Given the description of an element on the screen output the (x, y) to click on. 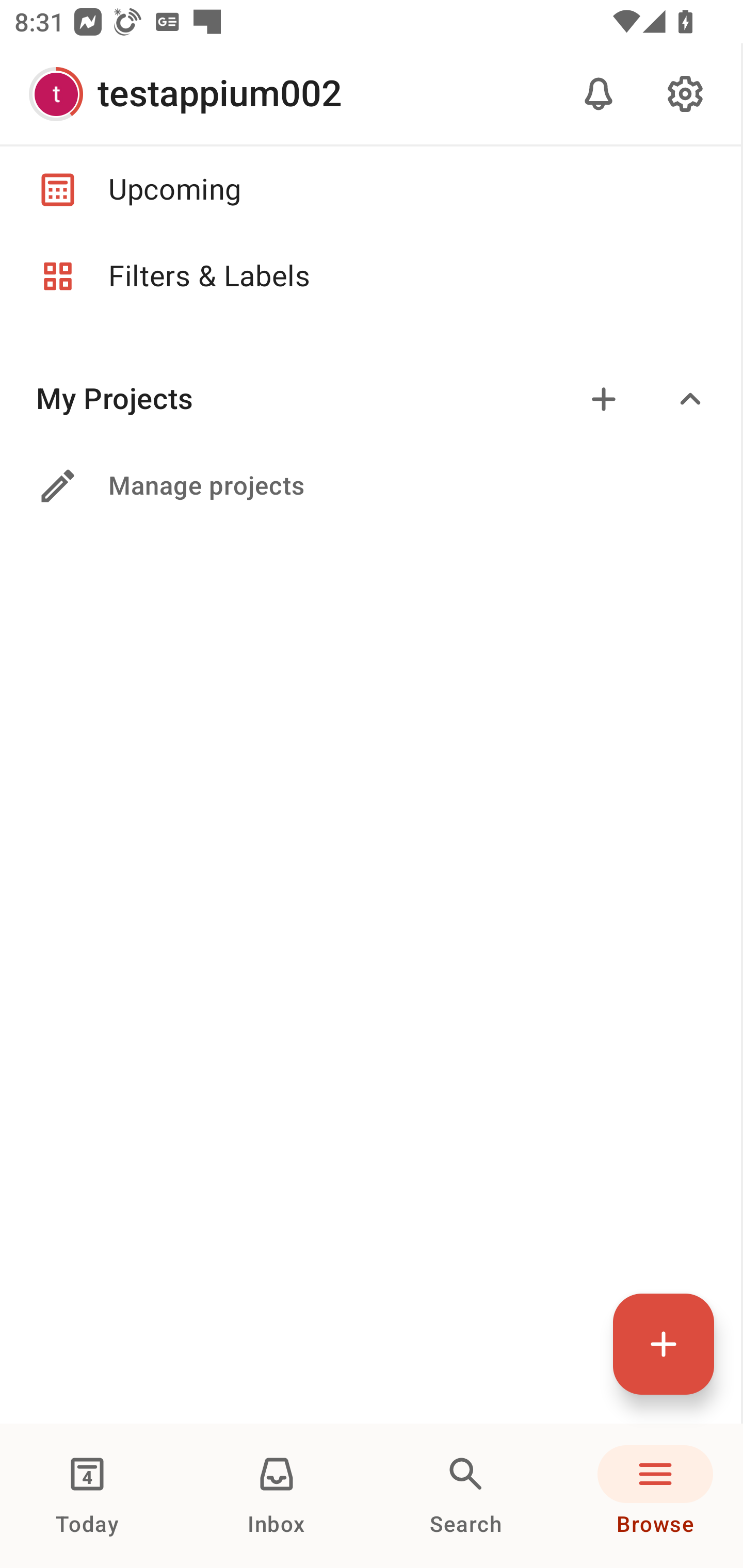
Notifications (598, 93)
Settings (684, 93)
Upcoming (370, 189)
Filters & Labels (370, 276)
My Projects Add Expand/collapse (370, 398)
Add (603, 398)
Expand/collapse (690, 398)
Manage projects (370, 485)
Quick add (663, 1343)
Today (87, 1495)
Inbox (276, 1495)
Search (465, 1495)
